Given the description of an element on the screen output the (x, y) to click on. 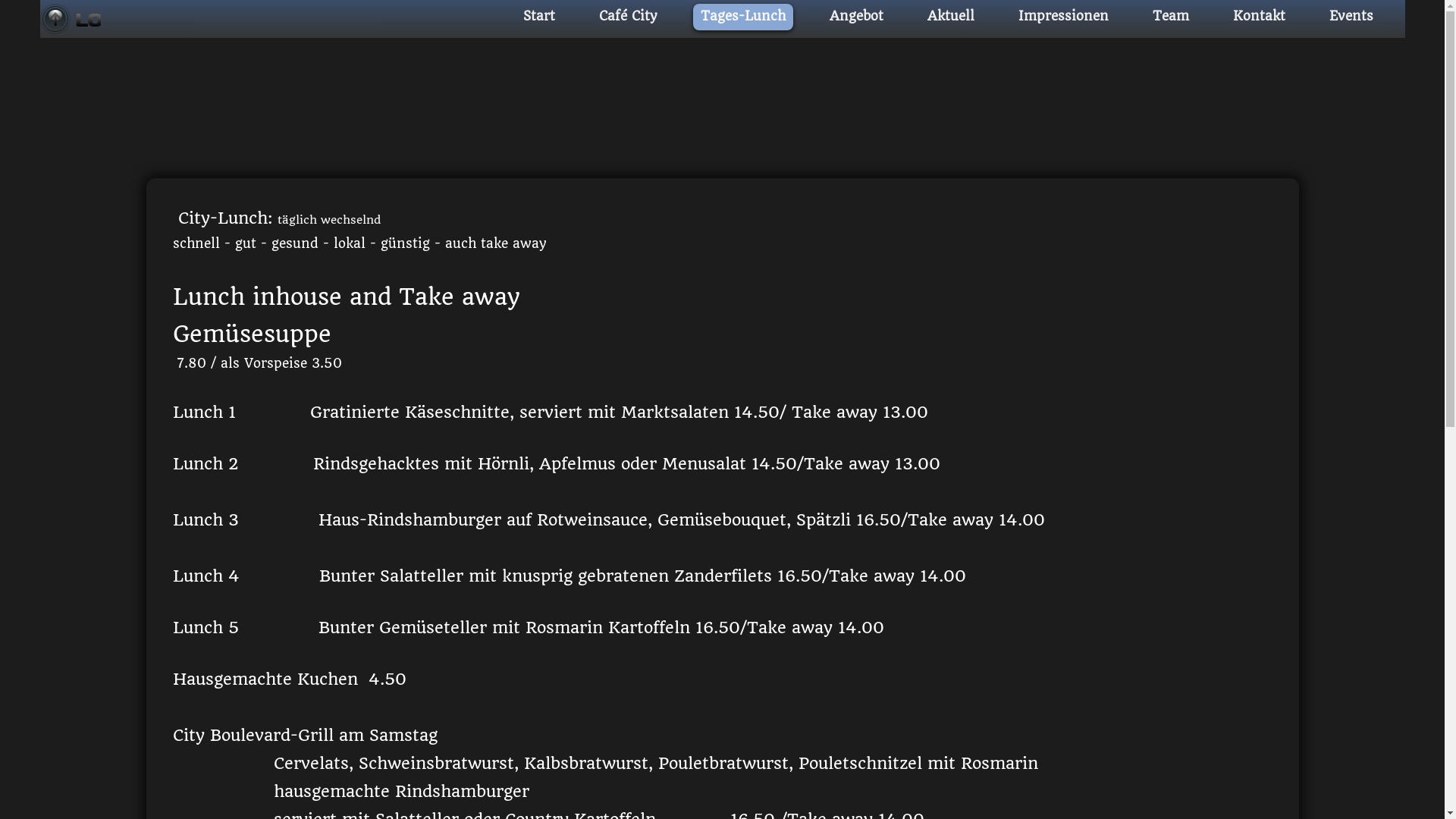
Kontakt Element type: text (1258, 16)
Start Element type: text (538, 16)
Events Element type: text (1350, 16)
Angebot Element type: text (856, 16)
Impressionen Element type: text (1062, 16)
Aktuell Element type: text (950, 16)
Team Element type: text (1170, 16)
Tages-Lunch Element type: text (743, 16)
